Given the description of an element on the screen output the (x, y) to click on. 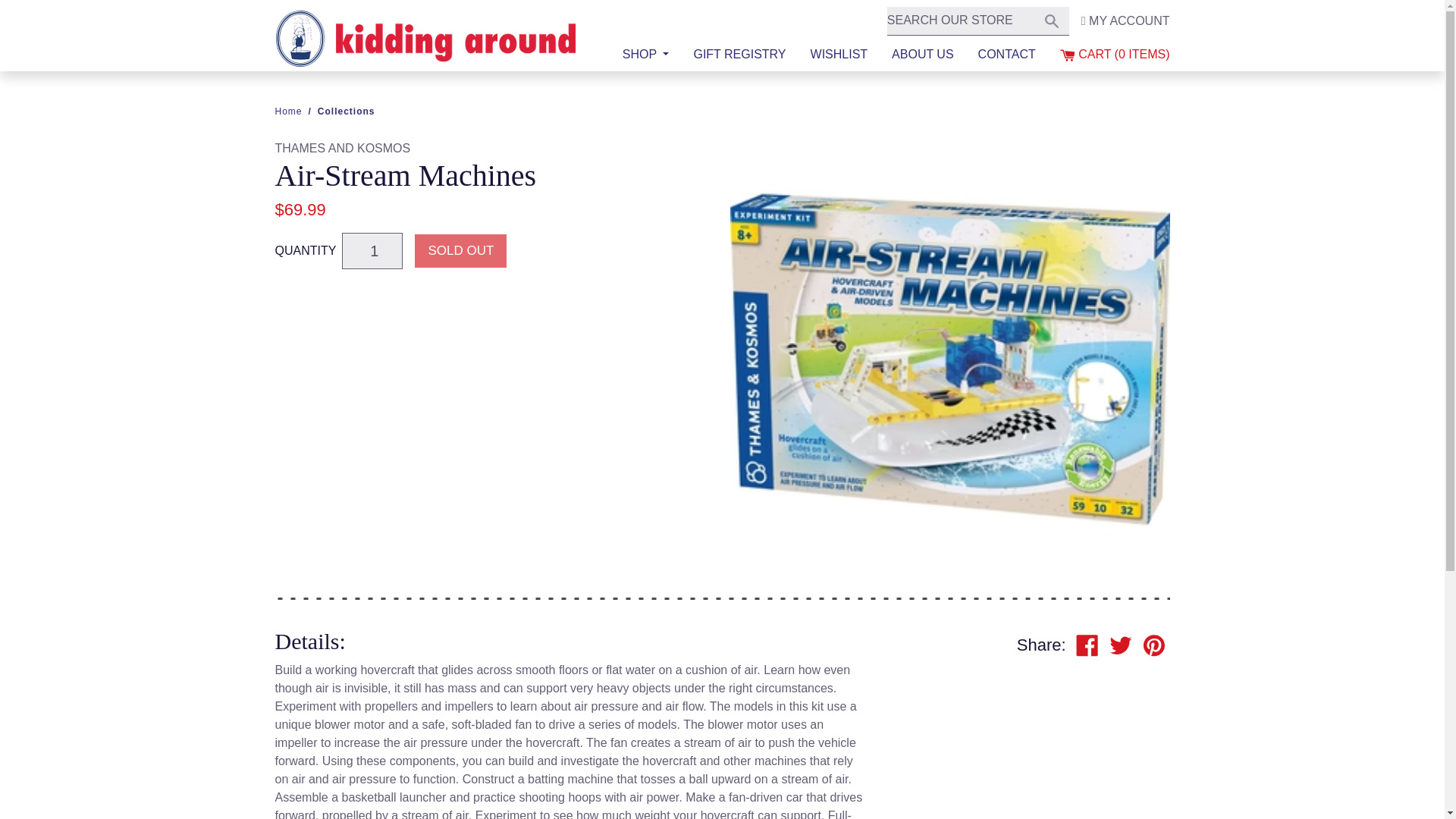
SHOPPING CART (1050, 20)
1 (1067, 55)
SHOP (372, 250)
MY ACCOUNT (645, 54)
Facebook Logo (1125, 21)
SEARCH (1087, 644)
Pinterest Logo (1051, 20)
Twitter Logo (1154, 644)
